Given the description of an element on the screen output the (x, y) to click on. 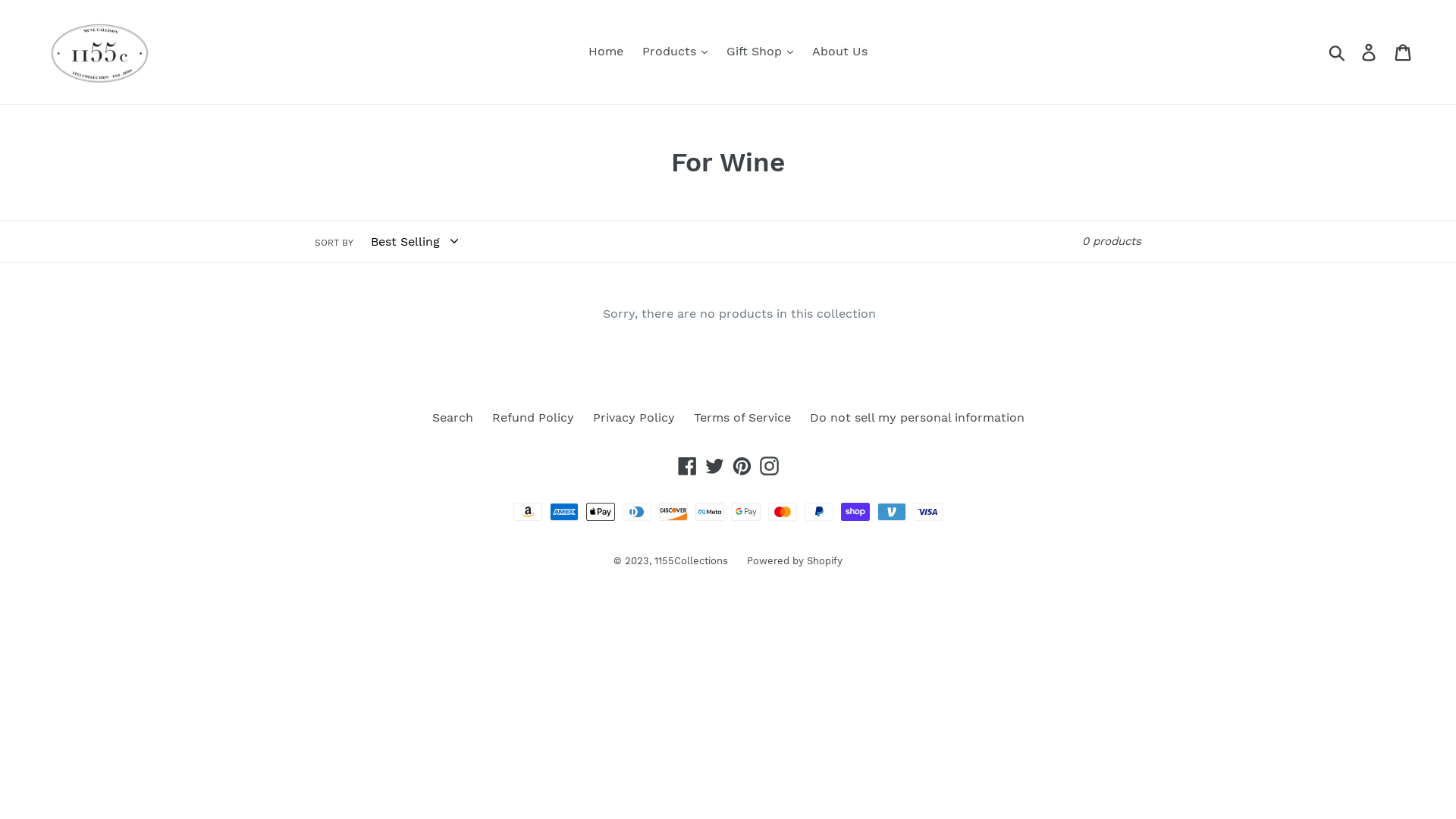
About Us Element type: text (839, 51)
Privacy Policy Element type: text (633, 417)
Pinterest Element type: text (741, 465)
1155Collections Element type: text (691, 560)
Search Element type: text (452, 417)
Terms of Service Element type: text (741, 417)
Submit Element type: text (1337, 51)
Powered by Shopify Element type: text (794, 560)
Cart Element type: text (1403, 51)
Do not sell my personal information Element type: text (916, 417)
Log in Element type: text (1369, 51)
Refund Policy Element type: text (532, 417)
Facebook Element type: text (686, 465)
Twitter Element type: text (713, 465)
Instagram Element type: text (768, 465)
Home Element type: text (605, 51)
